Given the description of an element on the screen output the (x, y) to click on. 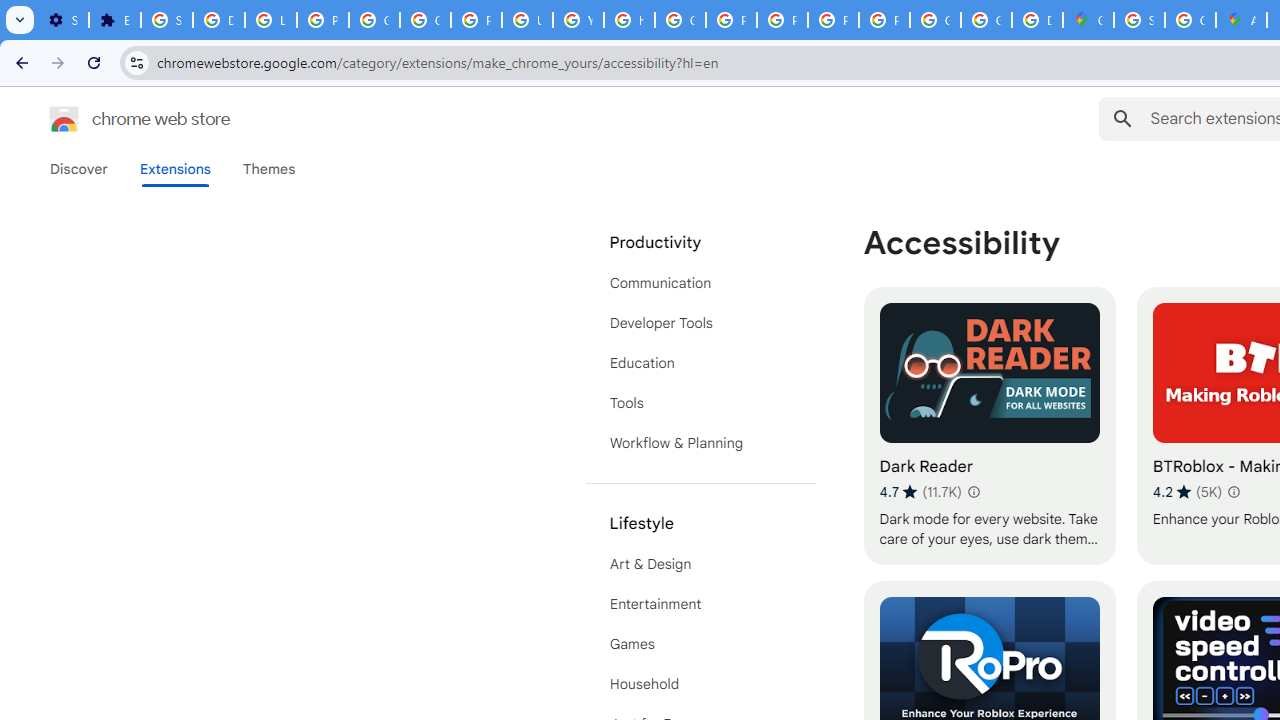
Sign in - Google Accounts (1138, 20)
Average rating 4.7 out of 5 stars. 11.7K ratings. (920, 491)
Delete photos & videos - Computer - Google Photos Help (218, 20)
Google Account Help (374, 20)
https://scholar.google.com/ (629, 20)
Workflow & Planning (700, 442)
Settings - On startup (63, 20)
Chrome Web Store logo chrome web store (118, 118)
Learn more about results and reviews "Dark Reader" (972, 491)
Communication (700, 282)
Average rating 4.2 out of 5 stars. 5K ratings. (1187, 491)
